Given the description of an element on the screen output the (x, y) to click on. 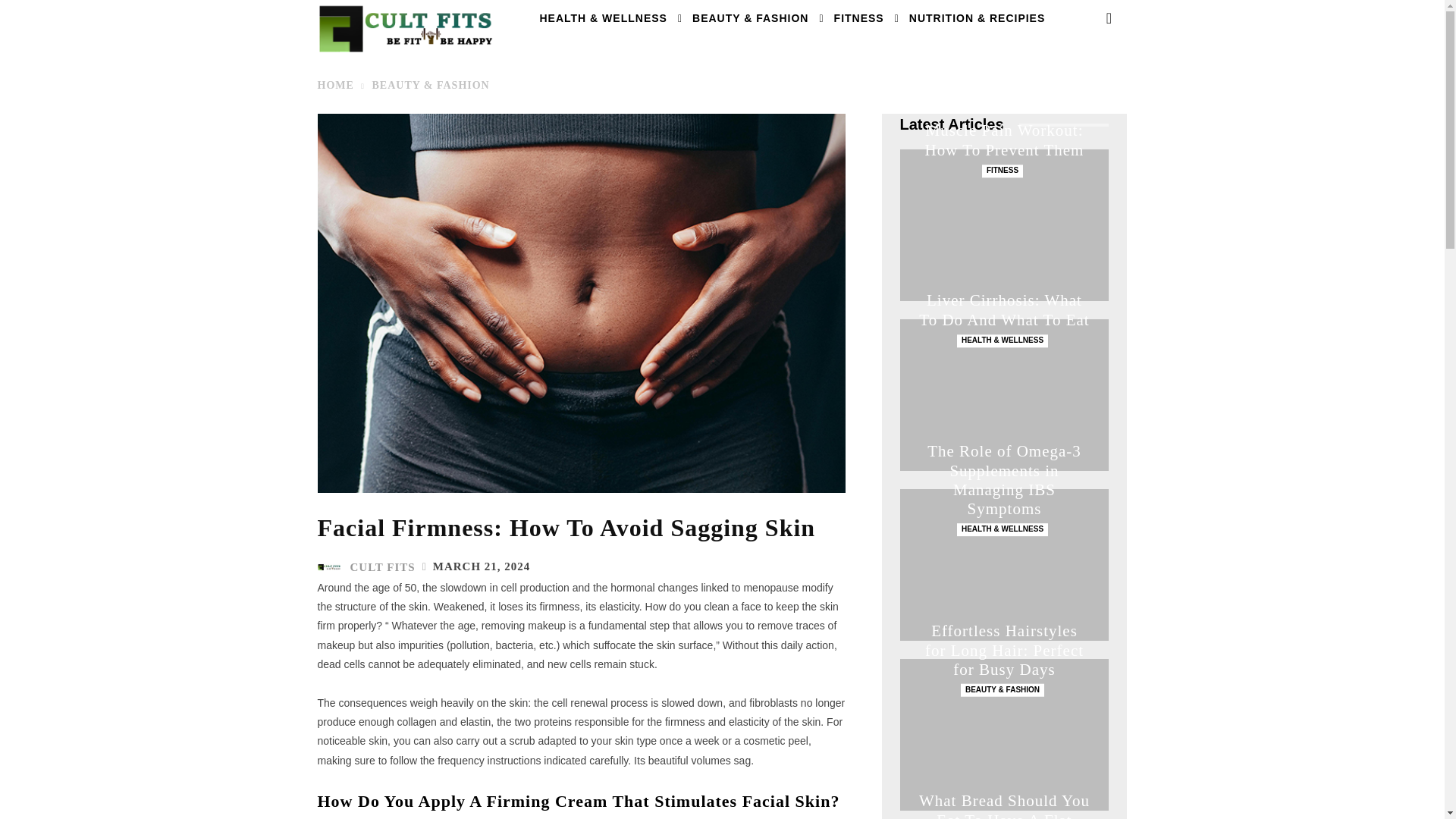
FITNESS (859, 18)
Liver Cirrhosis: What To Do And What To Eat (1003, 394)
Liver Cirrhosis: What To Do And What To Eat (1003, 310)
Muscle Pain Workout: How To Prevent Them (1004, 140)
Muscle Pain Workout: How To Prevent Them (1003, 225)
